Given the description of an element on the screen output the (x, y) to click on. 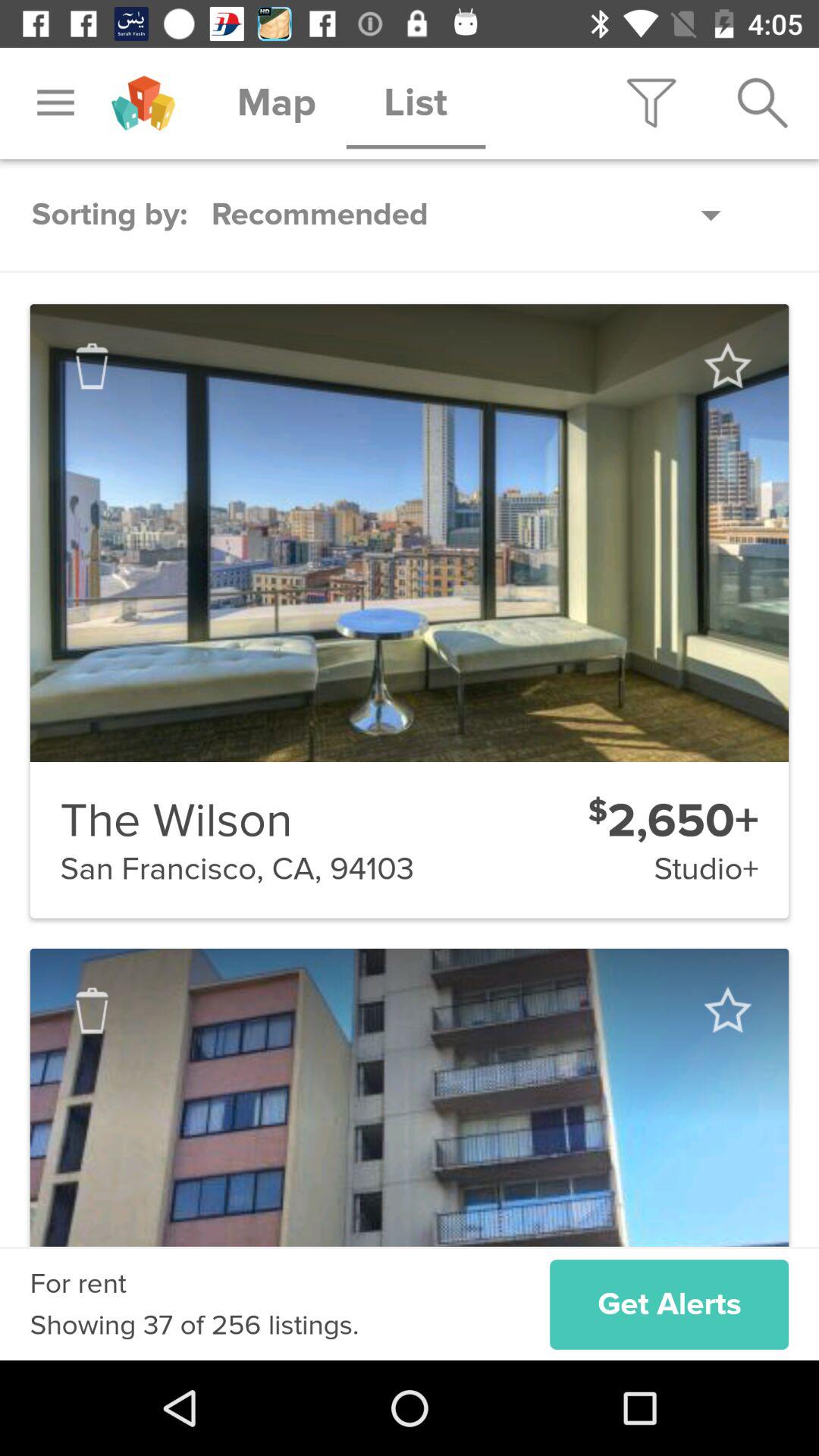
tap to leave this option in favorite (726, 1010)
